Given the description of an element on the screen output the (x, y) to click on. 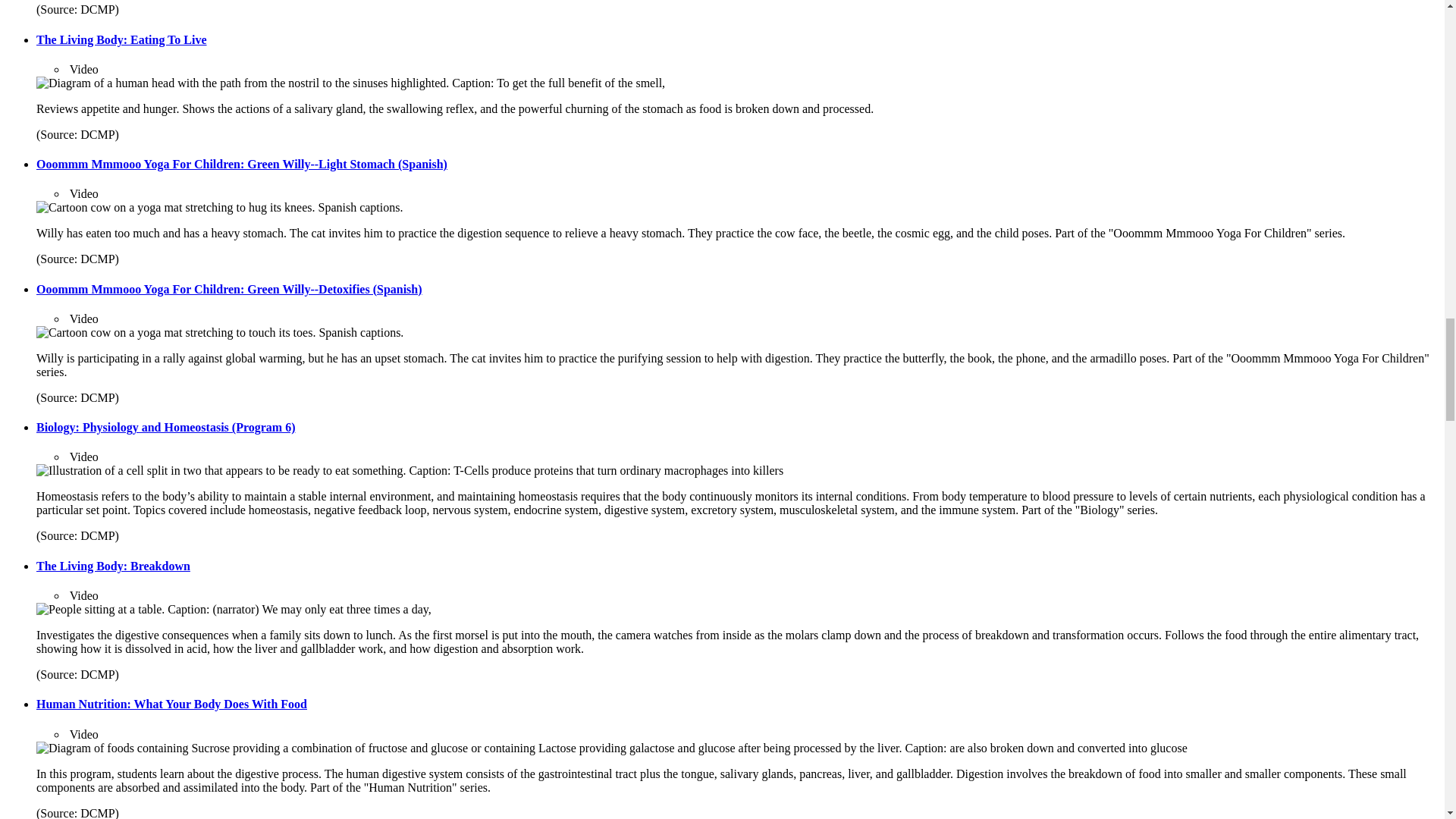
Human Nutrition: What Your Body Does With Food (171, 703)
The Living Body: Eating To Live (121, 39)
The Living Body: Breakdown (113, 565)
